Given the description of an element on the screen output the (x, y) to click on. 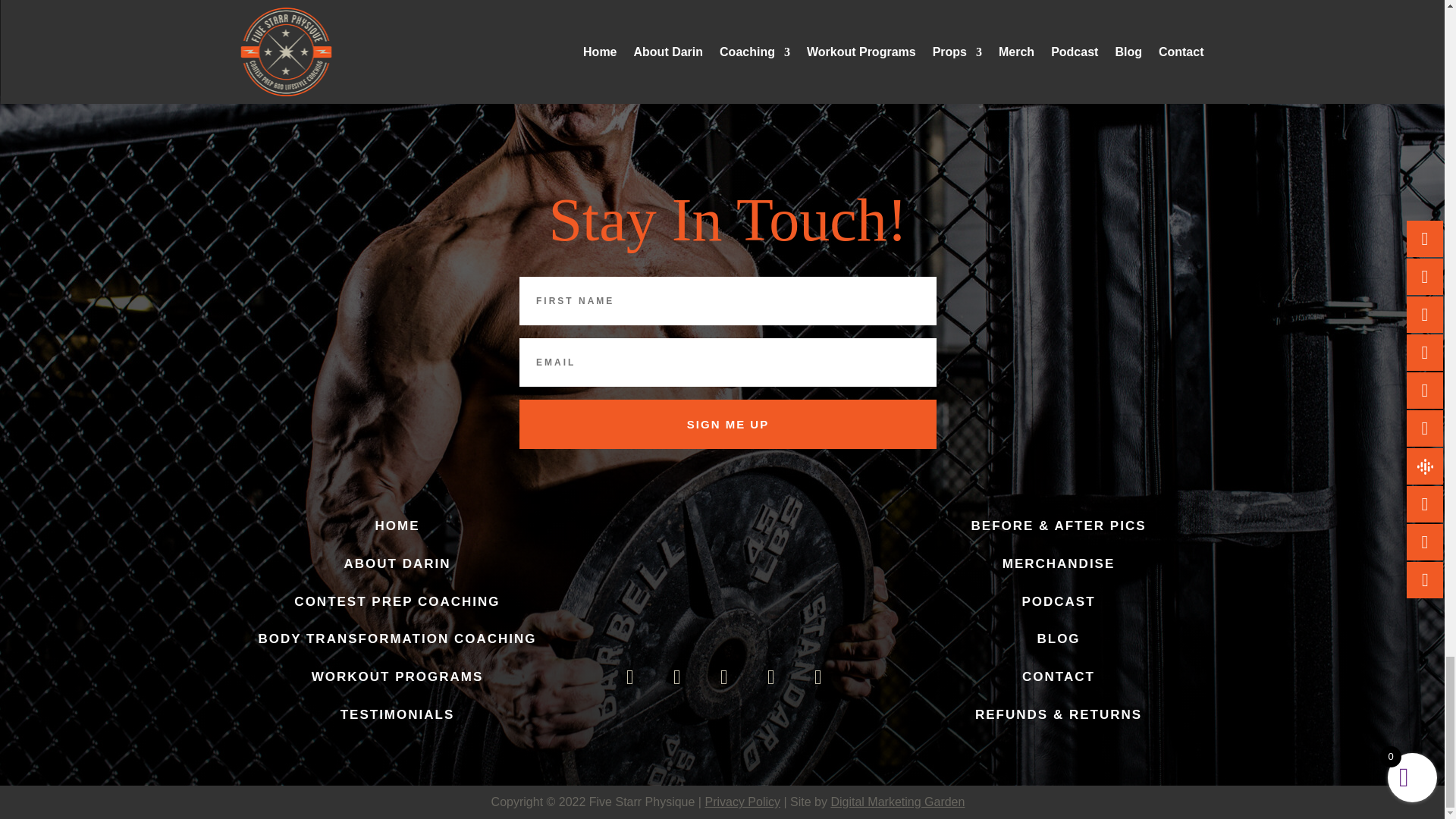
Five Starr Physique Logo (726, 578)
Follow on Facebook (630, 676)
Follow on Instagram (723, 676)
Follow on X (676, 676)
Follow on Pinterest (817, 676)
Follow on Youtube (771, 676)
